Given the description of an element on the screen output the (x, y) to click on. 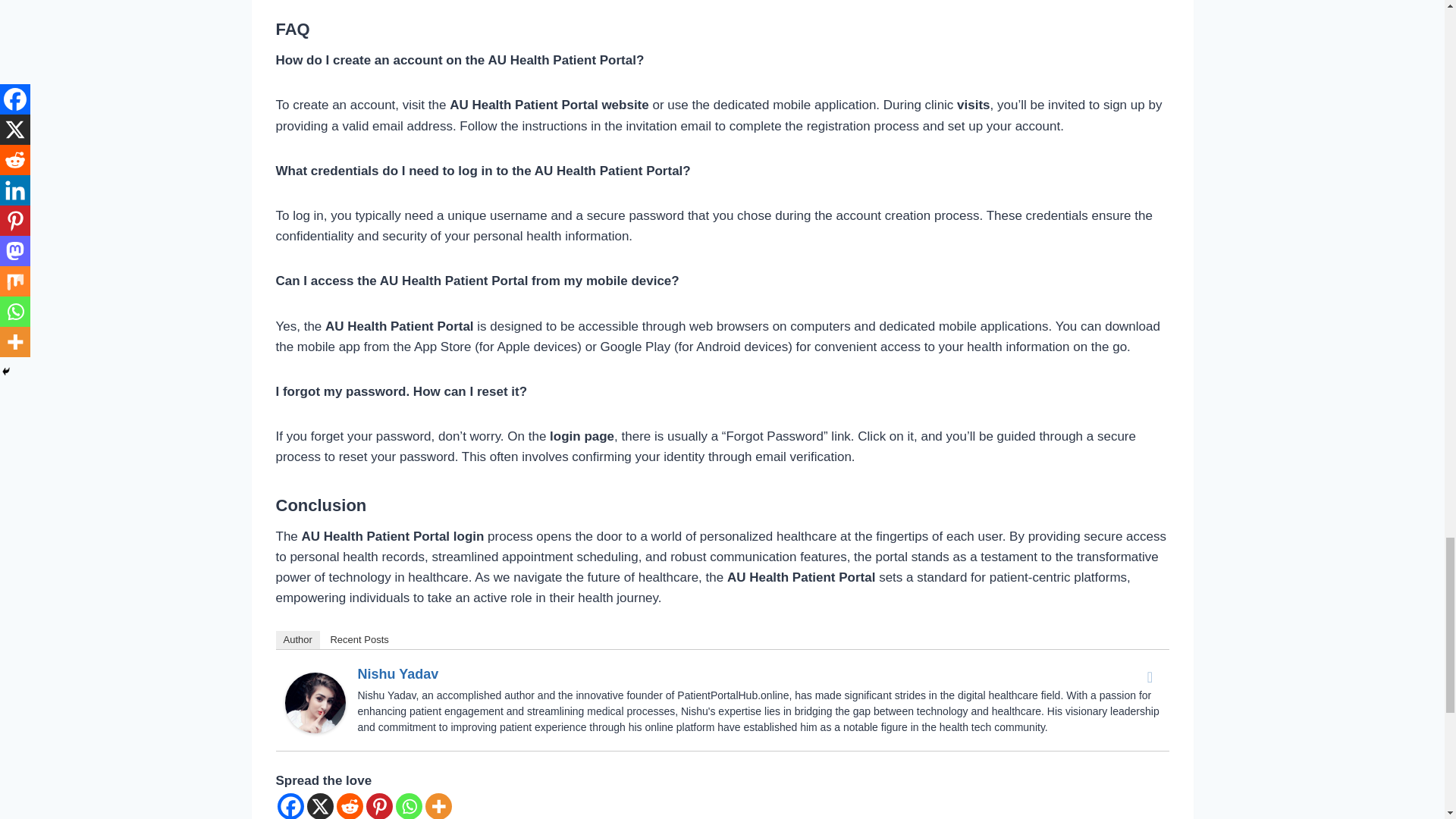
Nishu Yadav (315, 702)
Author (298, 639)
Recent Posts (358, 639)
Twitter (1149, 677)
